Given the description of an element on the screen output the (x, y) to click on. 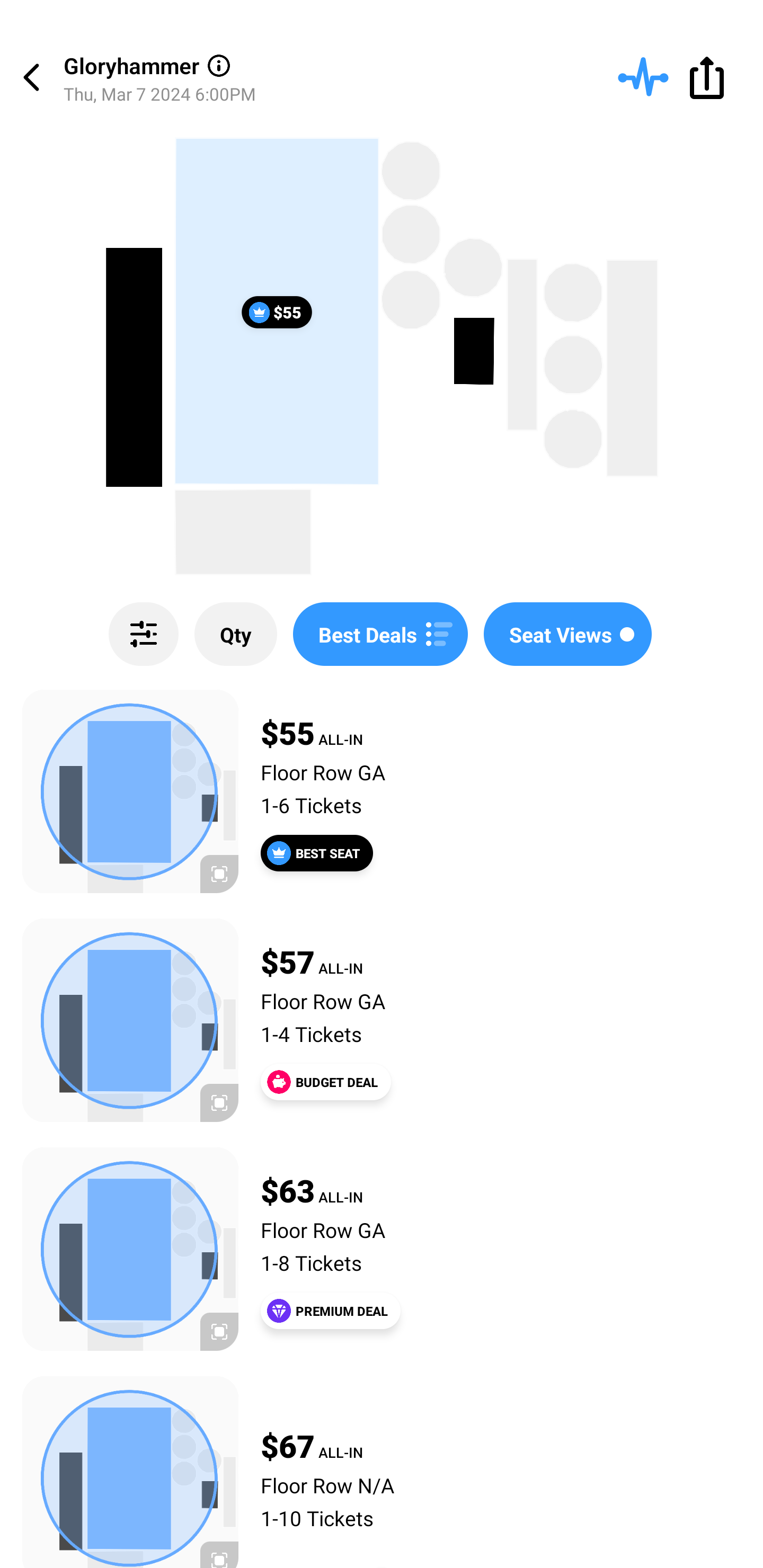
$55 (276, 311)
Qty (235, 634)
Best Deals (379, 634)
Seat Views (567, 634)
BEST SEAT (316, 852)
BUDGET DEAL (325, 1081)
PREMIUM DEAL (330, 1310)
